Given the description of an element on the screen output the (x, y) to click on. 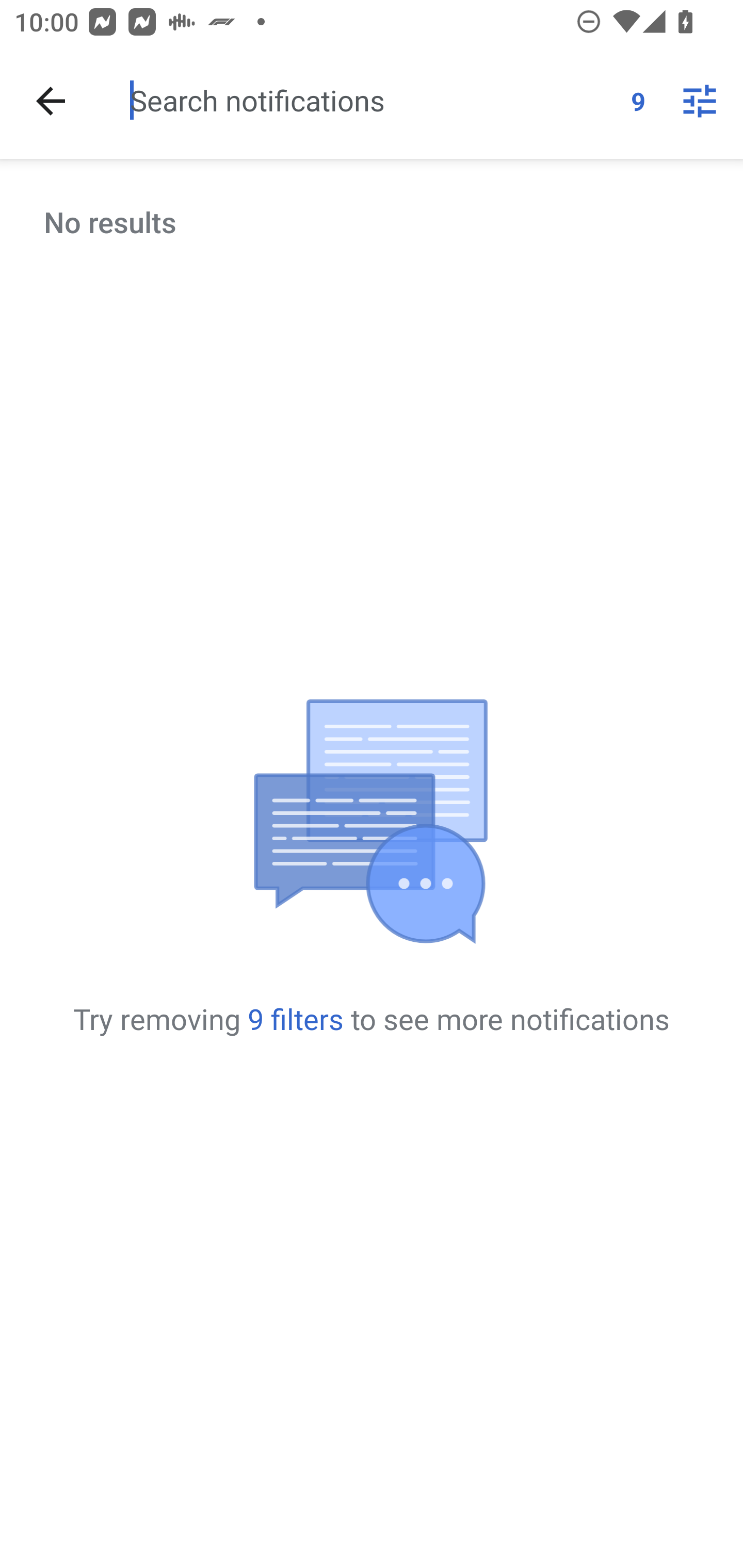
Done (50, 101)
More (699, 101)
Search notifications (373, 100)
